Given the description of an element on the screen output the (x, y) to click on. 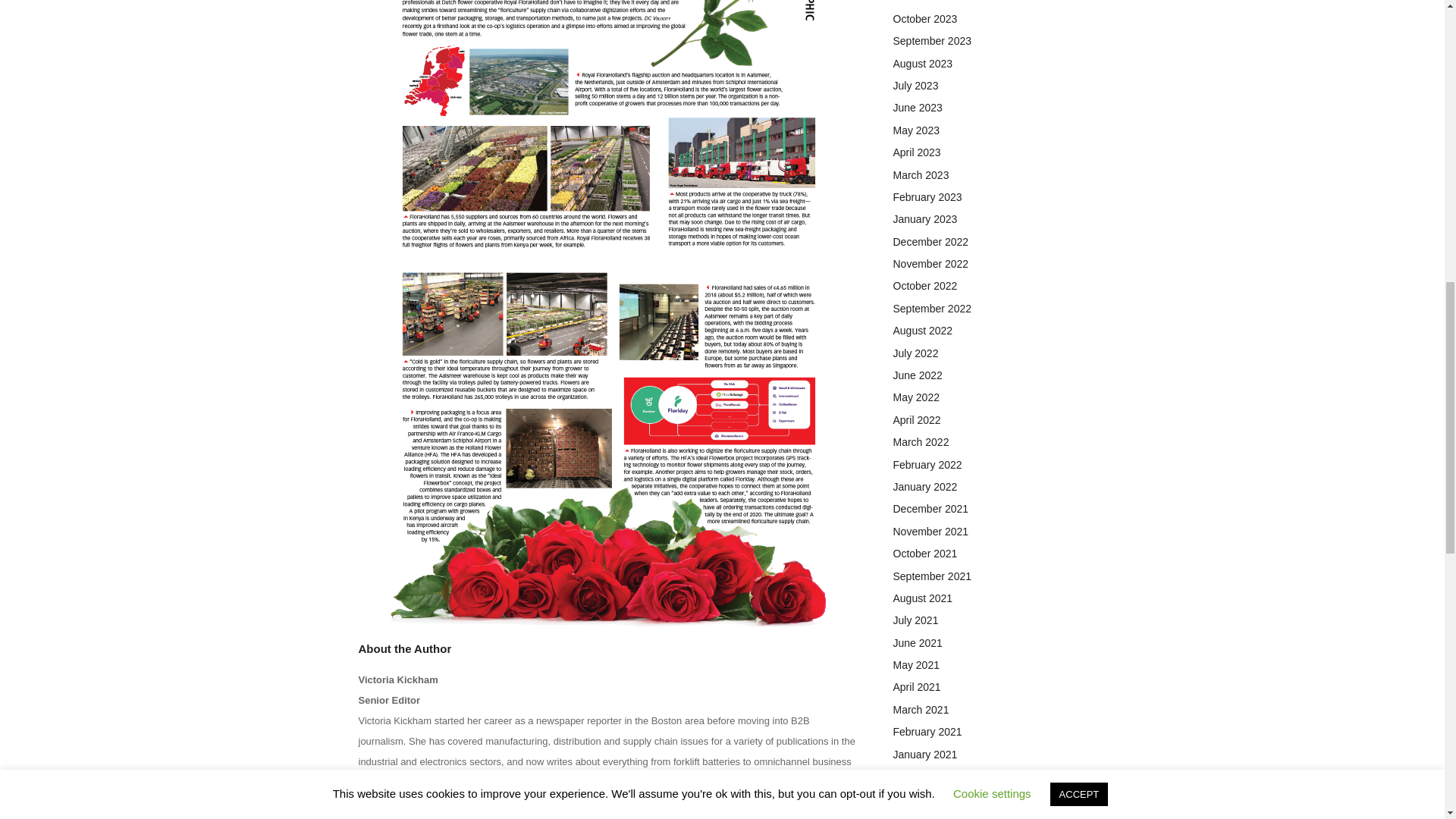
More articles by Victoria Kickham (447, 814)
